Given the description of an element on the screen output the (x, y) to click on. 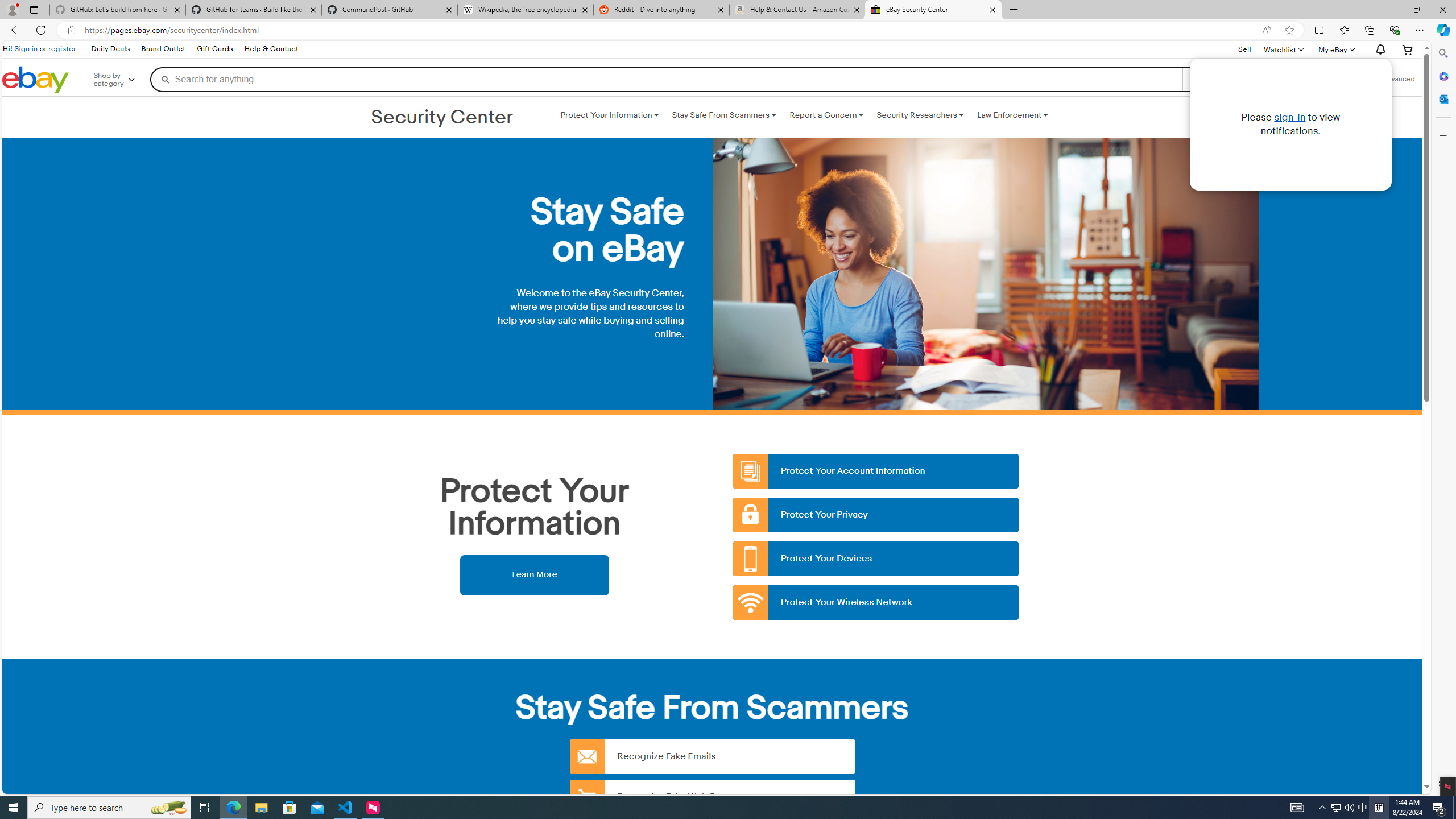
Recognize Fake Web Pages (712, 796)
My eBay (1335, 49)
Daily Deals (109, 49)
Protect Your Information  (608, 115)
Stay Safe From Scammers  (723, 115)
Help & Contact Us - Amazon Customer Service - Sleeping (797, 9)
Shop by category (122, 79)
Recognize Fake Emails (712, 756)
Brand Outlet (163, 49)
Report a Concern  (826, 115)
